Given the description of an element on the screen output the (x, y) to click on. 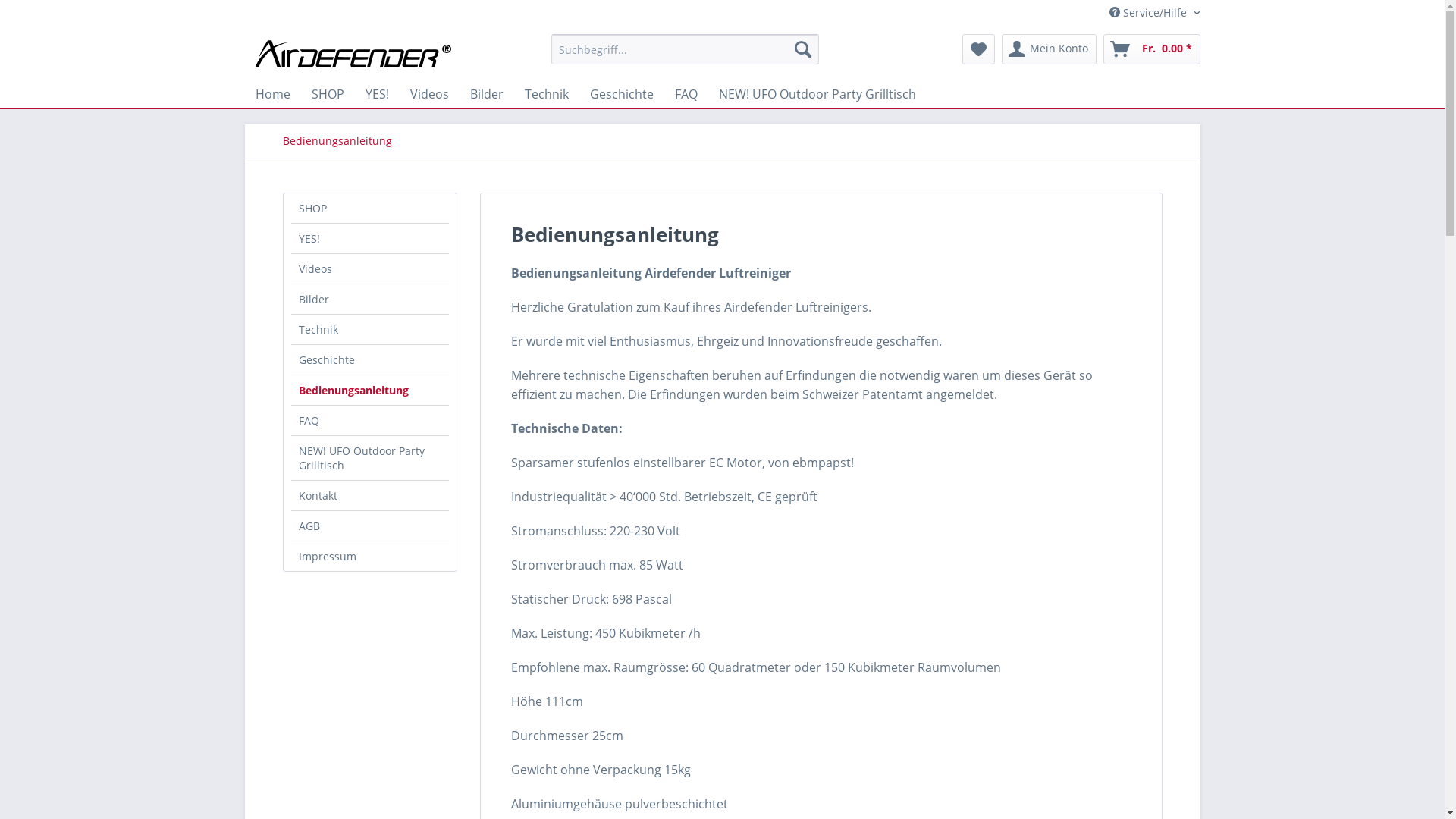
FAQ Element type: text (369, 420)
Geschichte Element type: text (621, 93)
Kontakt Element type: text (369, 495)
Merkzettel Element type: hover (977, 49)
Fr.  0.00 * Element type: text (1150, 49)
Bedienungsanleitung Element type: text (336, 140)
YES! Element type: text (376, 93)
Mein Konto Element type: text (1048, 49)
Bilder Element type: text (486, 93)
YES! Element type: text (369, 238)
Videos Element type: text (369, 268)
NEW! UFO Outdoor Party Grilltisch Element type: text (817, 93)
Home Element type: text (272, 93)
AGB Element type: text (369, 525)
SHOP Element type: text (327, 93)
FAQ Element type: text (686, 93)
Bedienungsanleitung Element type: text (369, 389)
Geschichte Element type: text (369, 359)
Bilder Element type: text (369, 298)
Technik Element type: text (369, 329)
SHOP Element type: text (369, 207)
Impressum Element type: text (369, 556)
Technik Element type: text (546, 93)
Videos Element type: text (428, 93)
Airdefender - zur Startseite wechseln Element type: hover (352, 53)
NEW! UFO Outdoor Party Grilltisch Element type: text (369, 458)
